Given the description of an element on the screen output the (x, y) to click on. 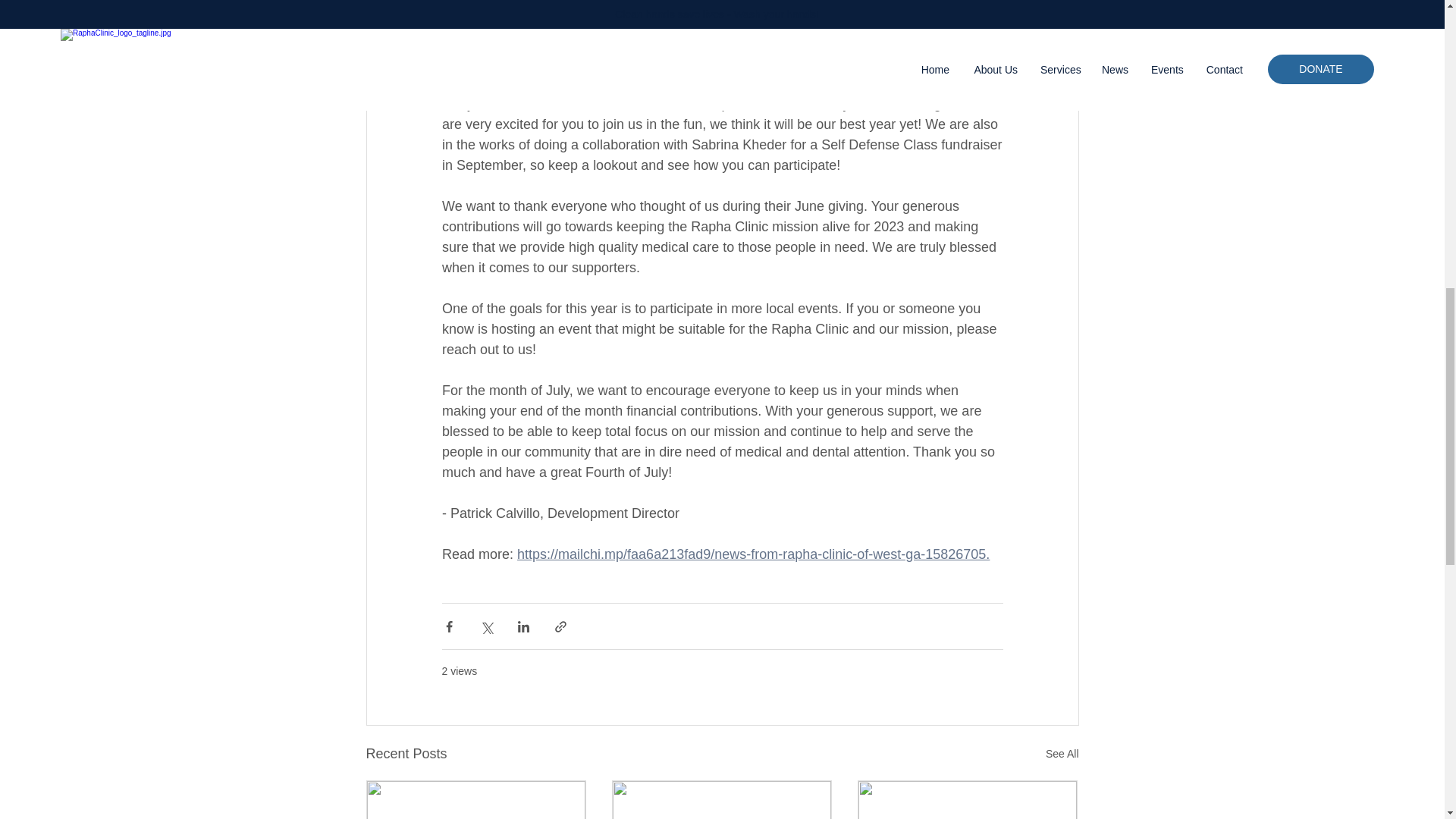
See All (1061, 753)
